Given the description of an element on the screen output the (x, y) to click on. 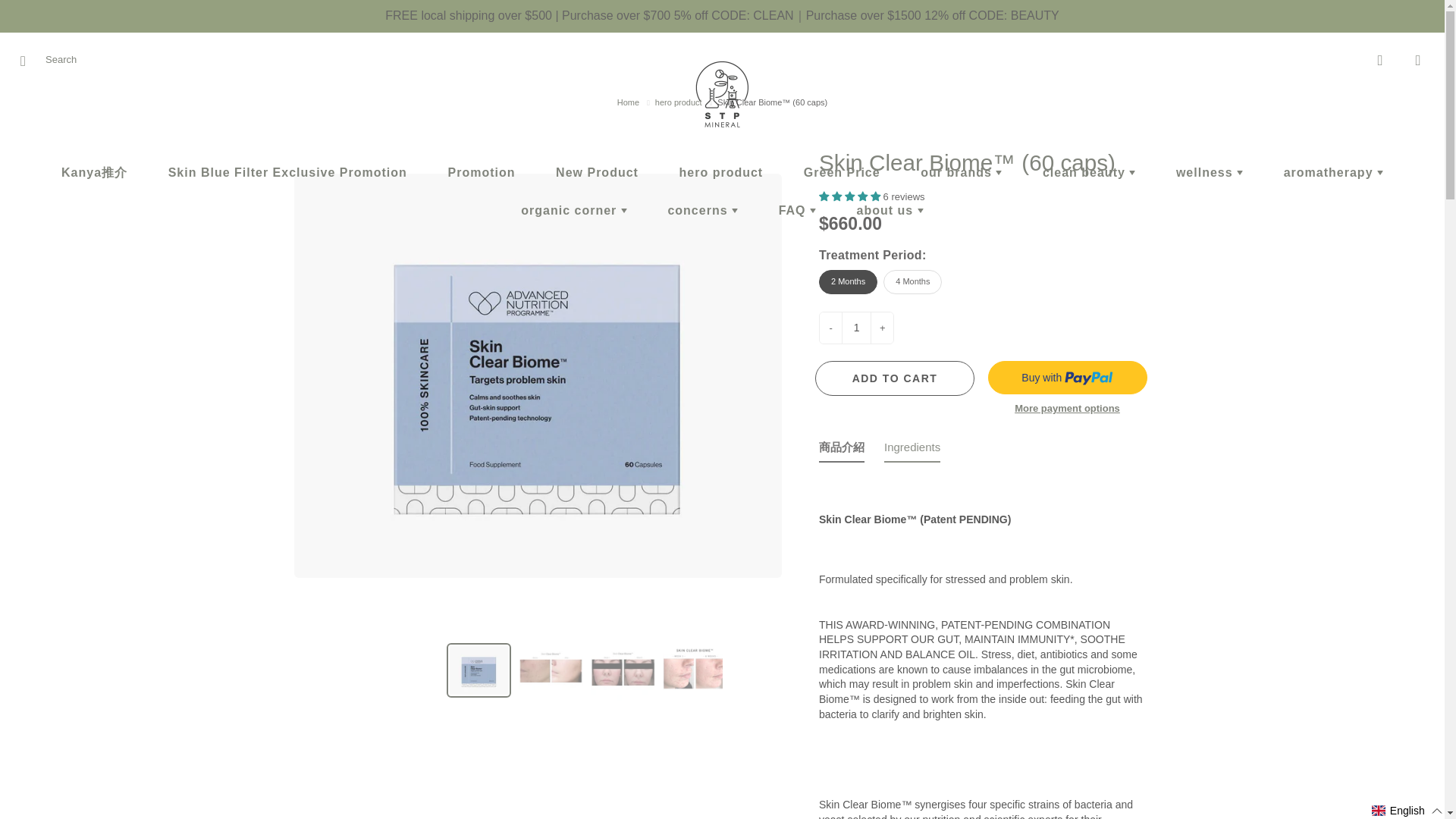
You have 0 items in your cart (1417, 60)
Green Price (841, 172)
Search (28, 60)
Home (628, 102)
1 (855, 327)
Promotion (481, 172)
hero product (722, 172)
Skin Blue Filter Exclusive Promotion (287, 172)
My account (1379, 60)
our brands (960, 172)
New Product (597, 172)
